Given the description of an element on the screen output the (x, y) to click on. 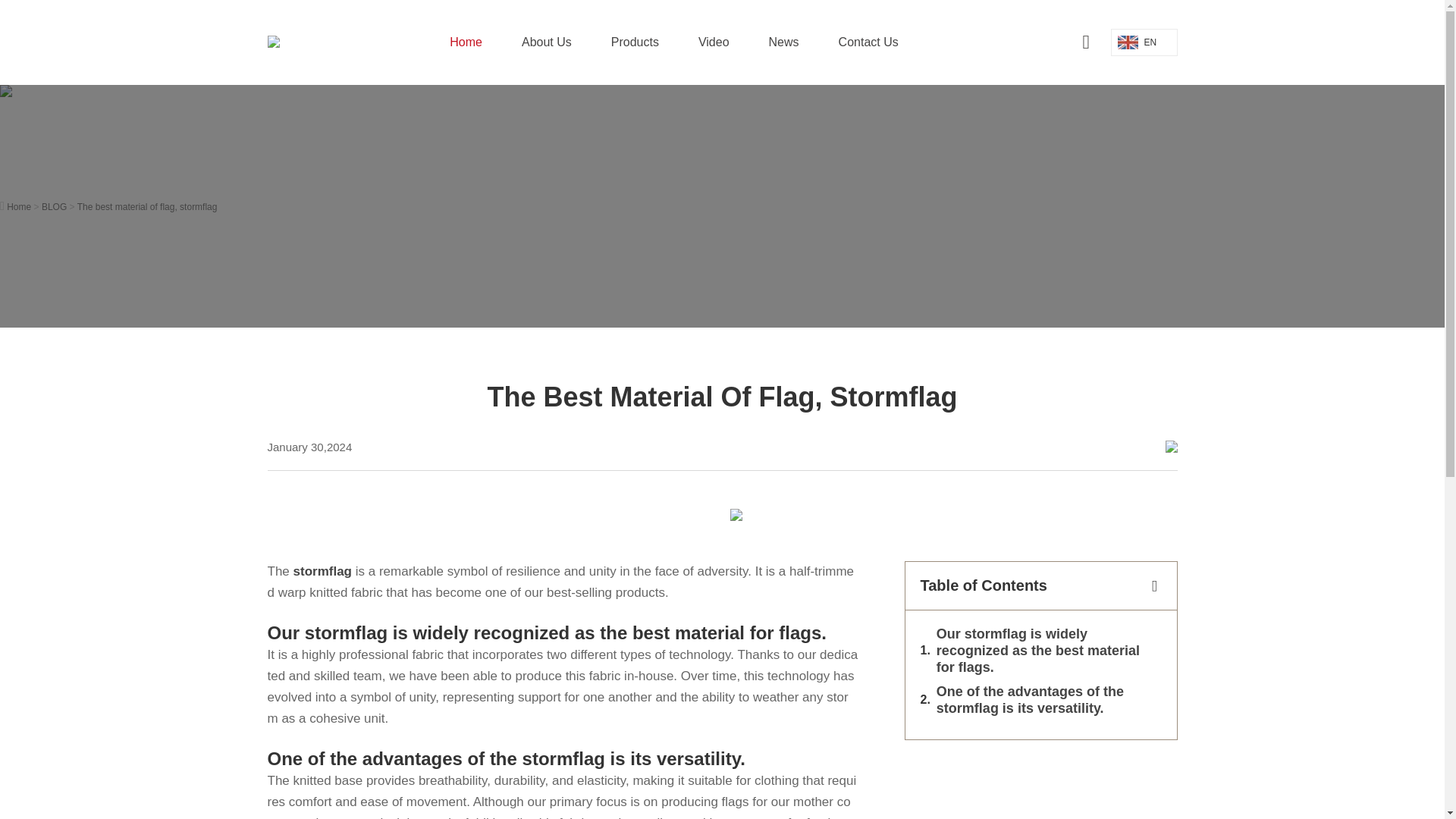
About Us (546, 42)
Home (465, 42)
Products (634, 42)
